Given the description of an element on the screen output the (x, y) to click on. 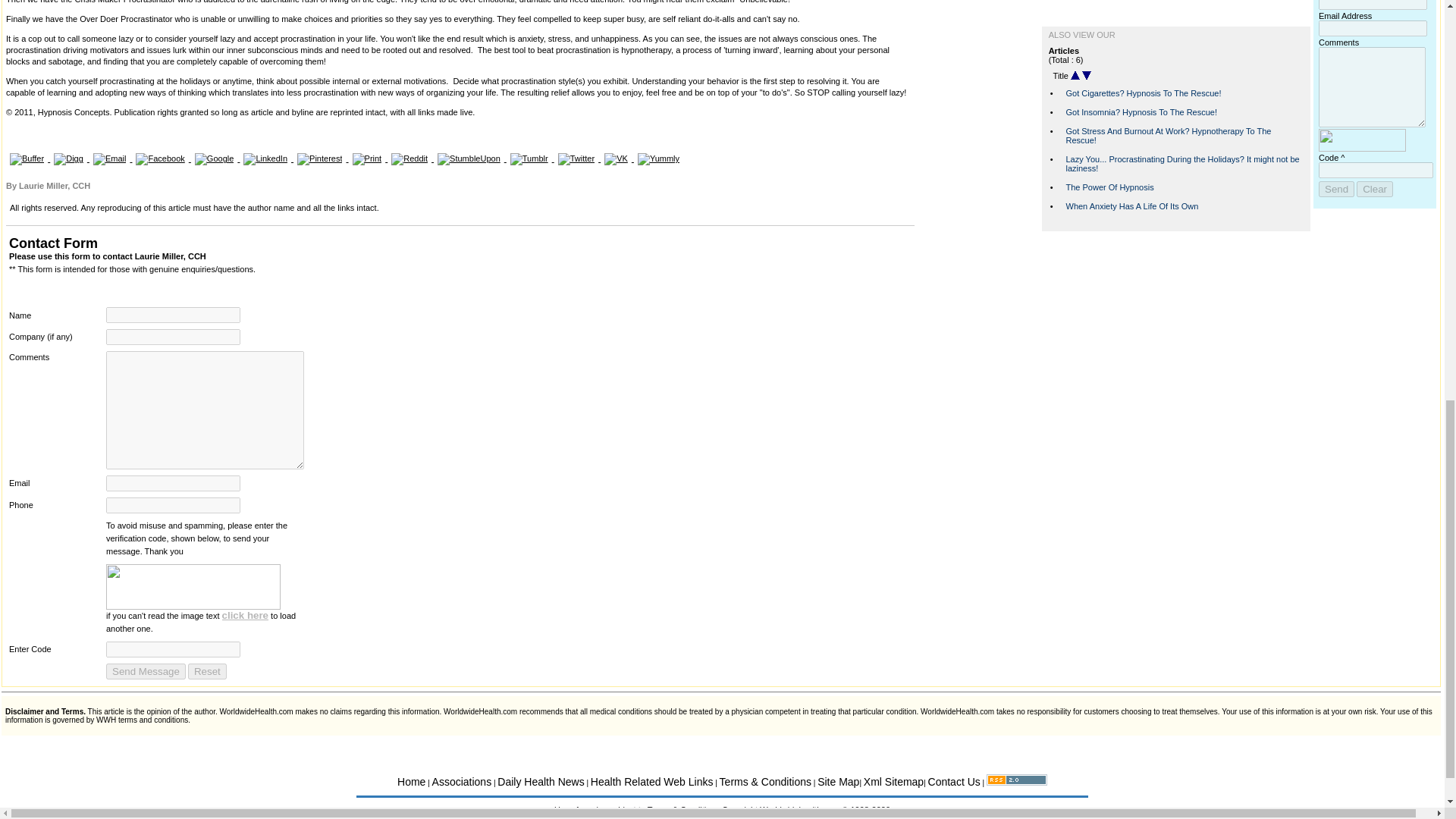
Reset (207, 671)
The Power Of Hypnosis (1109, 186)
Clear (1374, 188)
Sort by Title Z-A (1085, 75)
Got Stress And Burnout At Work? Hypnotherapy To The Rescue! (1168, 135)
Sort by Title A-Z (1075, 75)
click here (245, 614)
Got Cigarettes? Hypnosis To The Rescue! (1143, 92)
Send Message (146, 671)
When Anxiety Has A Life Of Its Own (1131, 205)
Got Insomnia? Hypnosis To The Rescue! (1141, 112)
Send (1336, 188)
click here (245, 614)
Send (1336, 188)
